Given the description of an element on the screen output the (x, y) to click on. 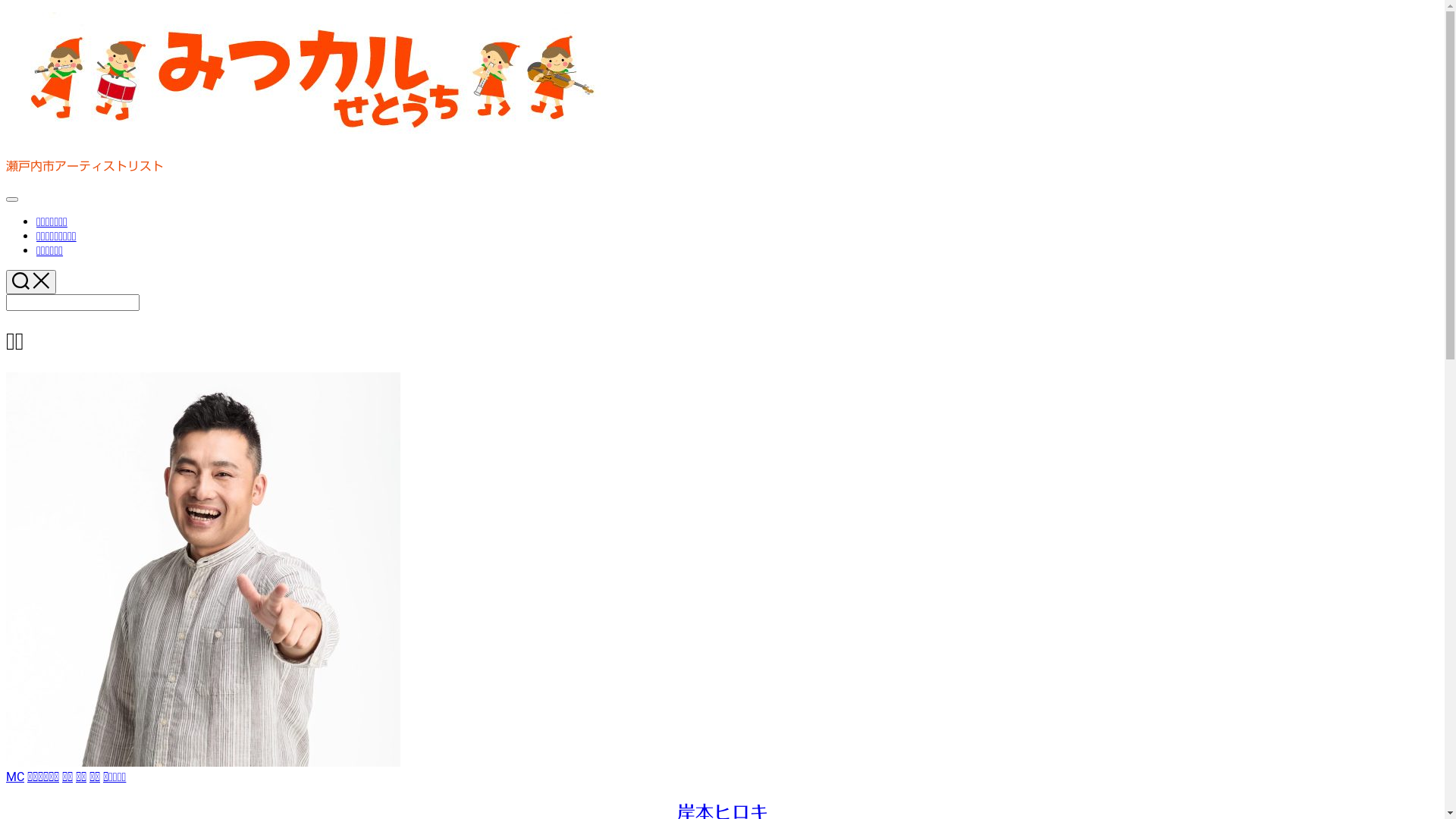
Expand Menu Element type: text (12, 199)
Skip to content Element type: text (5, 11)
MC Element type: text (15, 776)
